Given the description of an element on the screen output the (x, y) to click on. 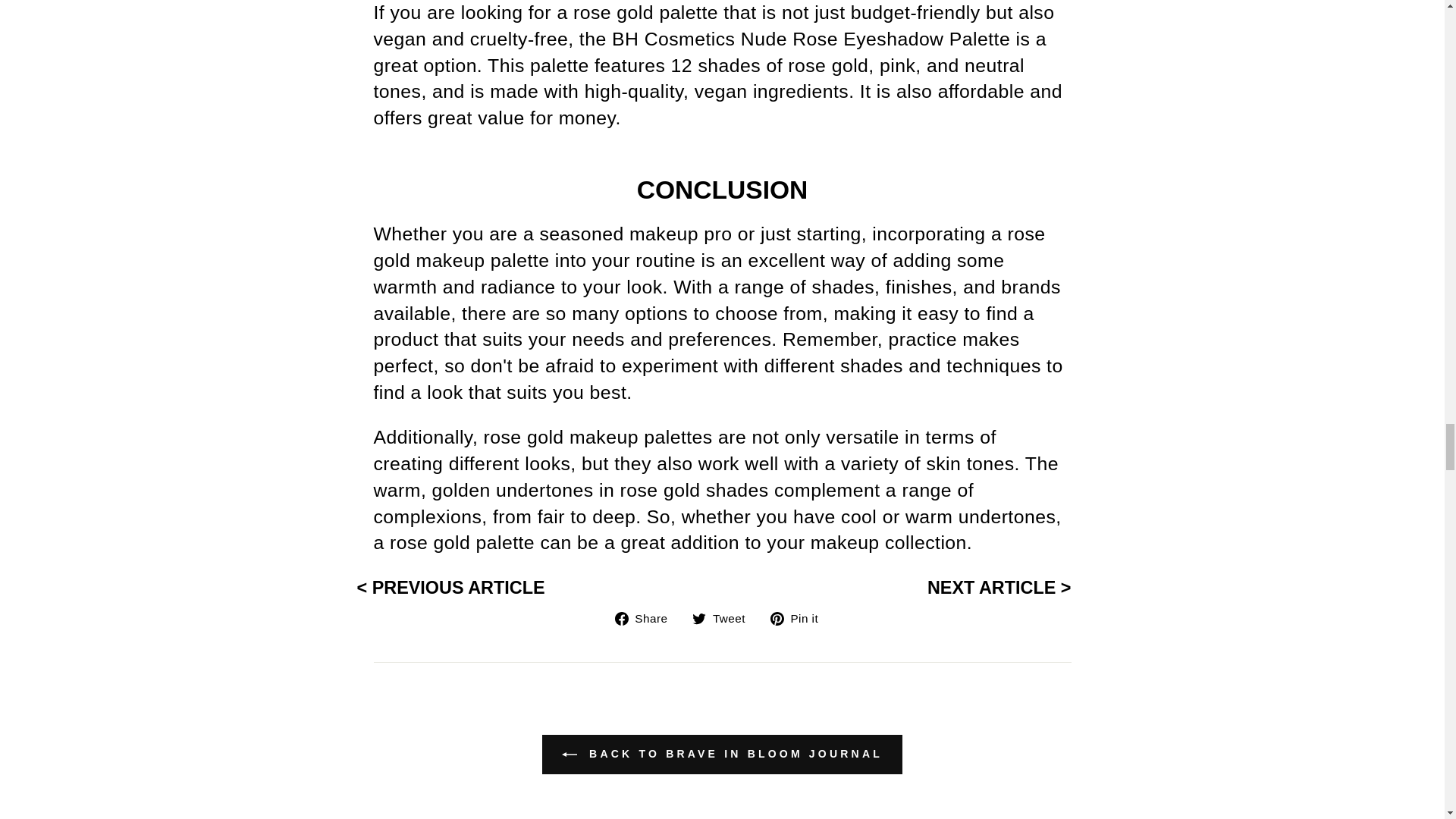
Tweet on Twitter (725, 617)
Share on Facebook (646, 617)
Pin on Pinterest (799, 617)
